Given the description of an element on the screen output the (x, y) to click on. 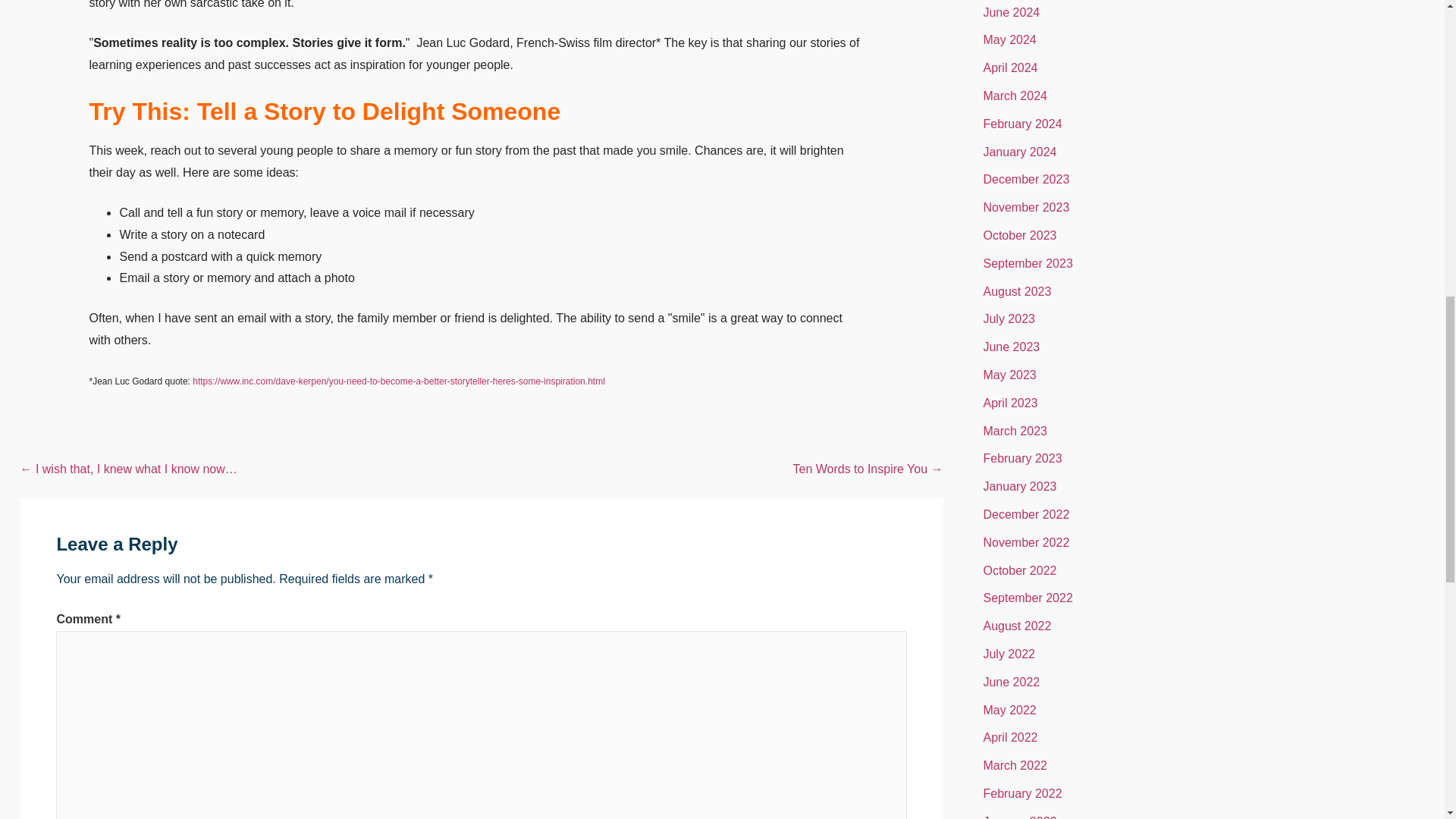
August 2023 (1016, 291)
January 2024 (1019, 151)
December 2023 (1025, 178)
November 2023 (1025, 206)
May 2024 (1008, 39)
September 2023 (1026, 263)
February 2024 (1021, 123)
April 2024 (1009, 67)
March 2024 (1014, 95)
July 2023 (1008, 318)
October 2023 (1019, 235)
June 2024 (1010, 11)
